Given the description of an element on the screen output the (x, y) to click on. 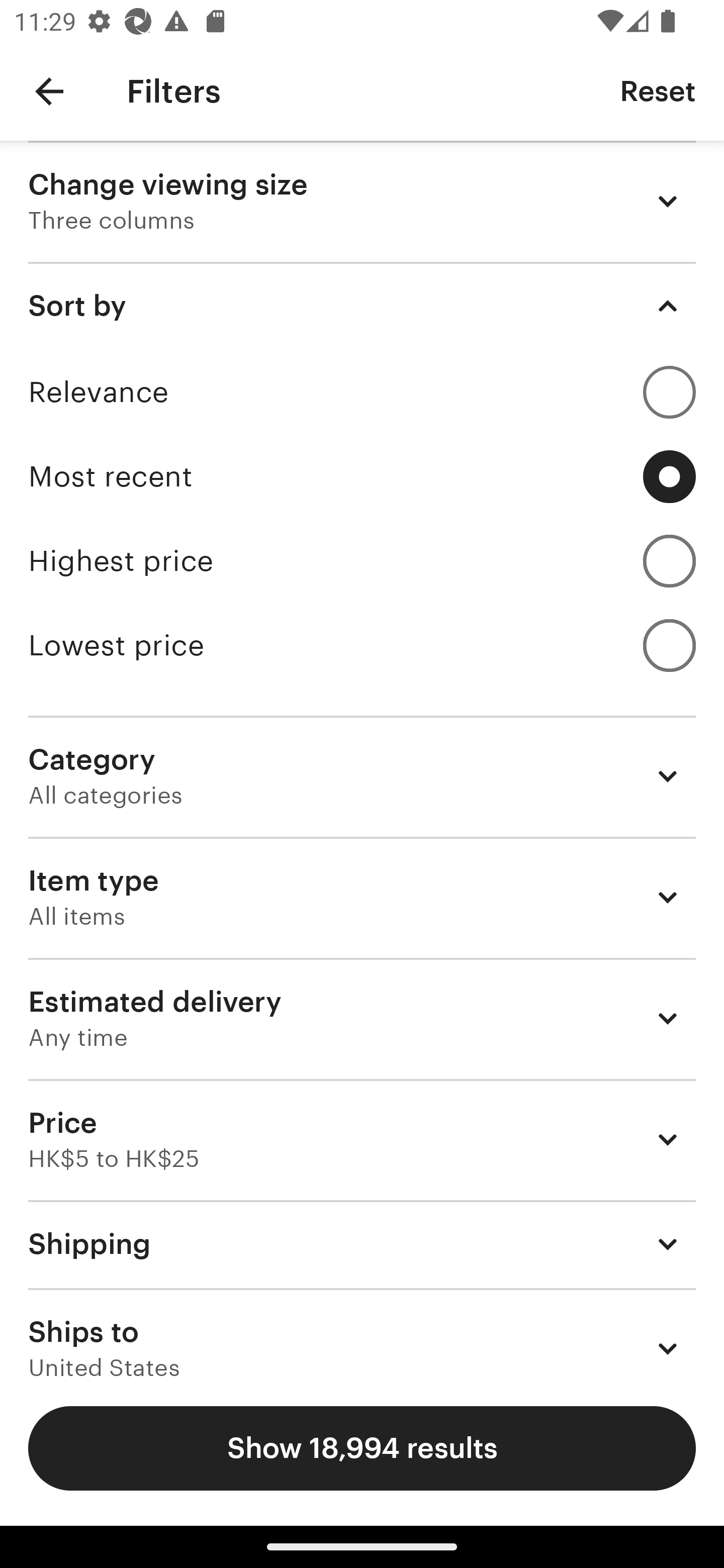
Navigate up (49, 91)
Reset (657, 90)
Change viewing size Three columns (362, 201)
Sort by (362, 305)
Relevance (362, 391)
Most recent (362, 476)
Highest price (362, 561)
Lowest price (362, 644)
Category All categories (362, 776)
Item type All items (362, 897)
Estimated delivery Any time (362, 1018)
Price HK$5 to HK$25 (362, 1138)
Shipping (362, 1243)
Ships to United States (362, 1332)
Show 18,994 results (361, 1448)
